Given the description of an element on the screen output the (x, y) to click on. 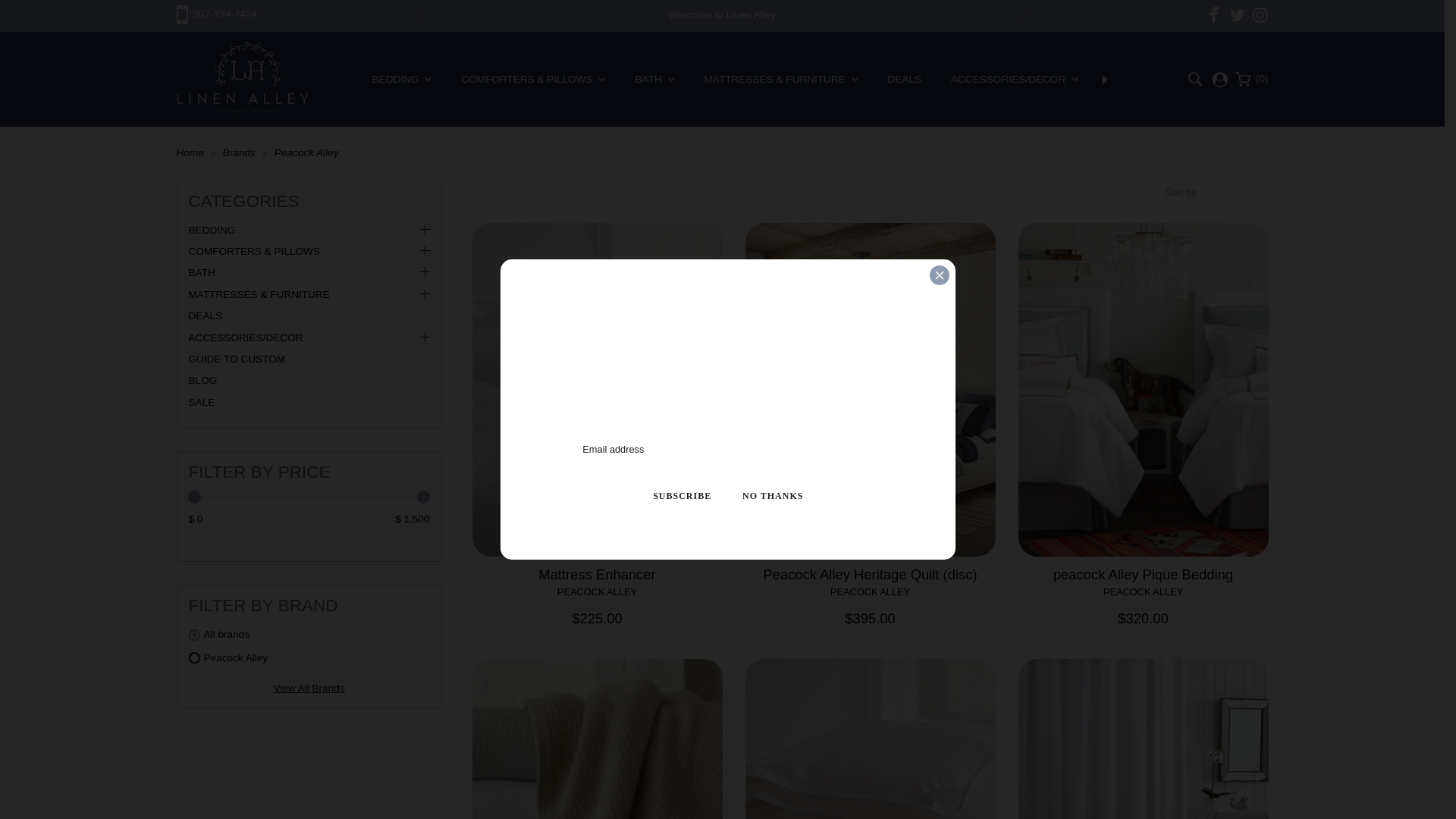
My Account (1219, 79)
More (1104, 79)
DEALS  (905, 78)
Search (1195, 78)
My cart (1251, 78)
307-734-7424 (216, 14)
BEDDING  (401, 78)
BATH  (655, 78)
